Given the description of an element on the screen output the (x, y) to click on. 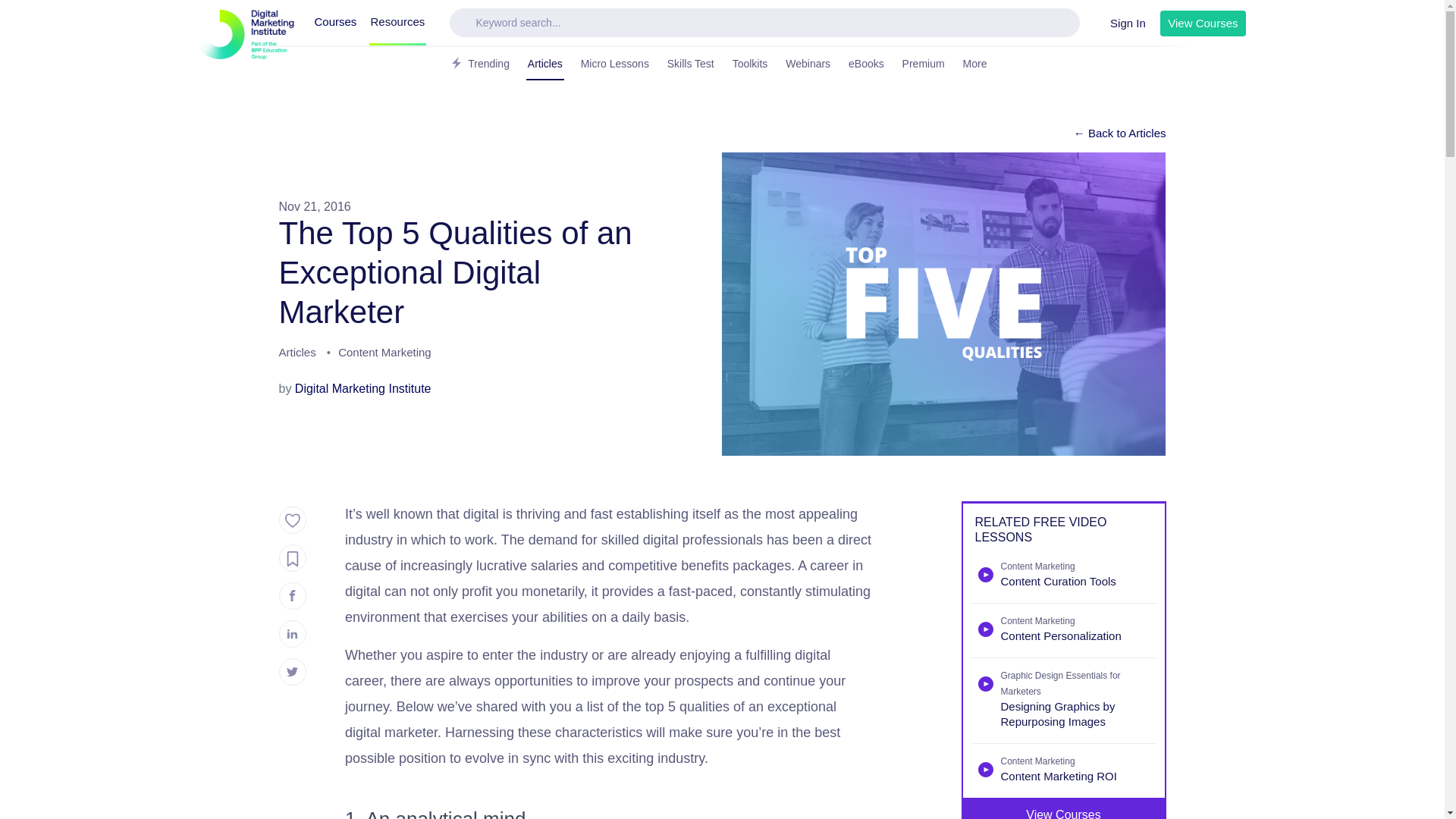
Resources (397, 22)
eBooks (866, 63)
Articles (544, 63)
Click to share this post on Twitter (292, 671)
Content Marketing (383, 354)
Toolkits (750, 63)
Micro Lessons (614, 63)
Skills Test (690, 63)
More (979, 63)
